Given the description of an element on the screen output the (x, y) to click on. 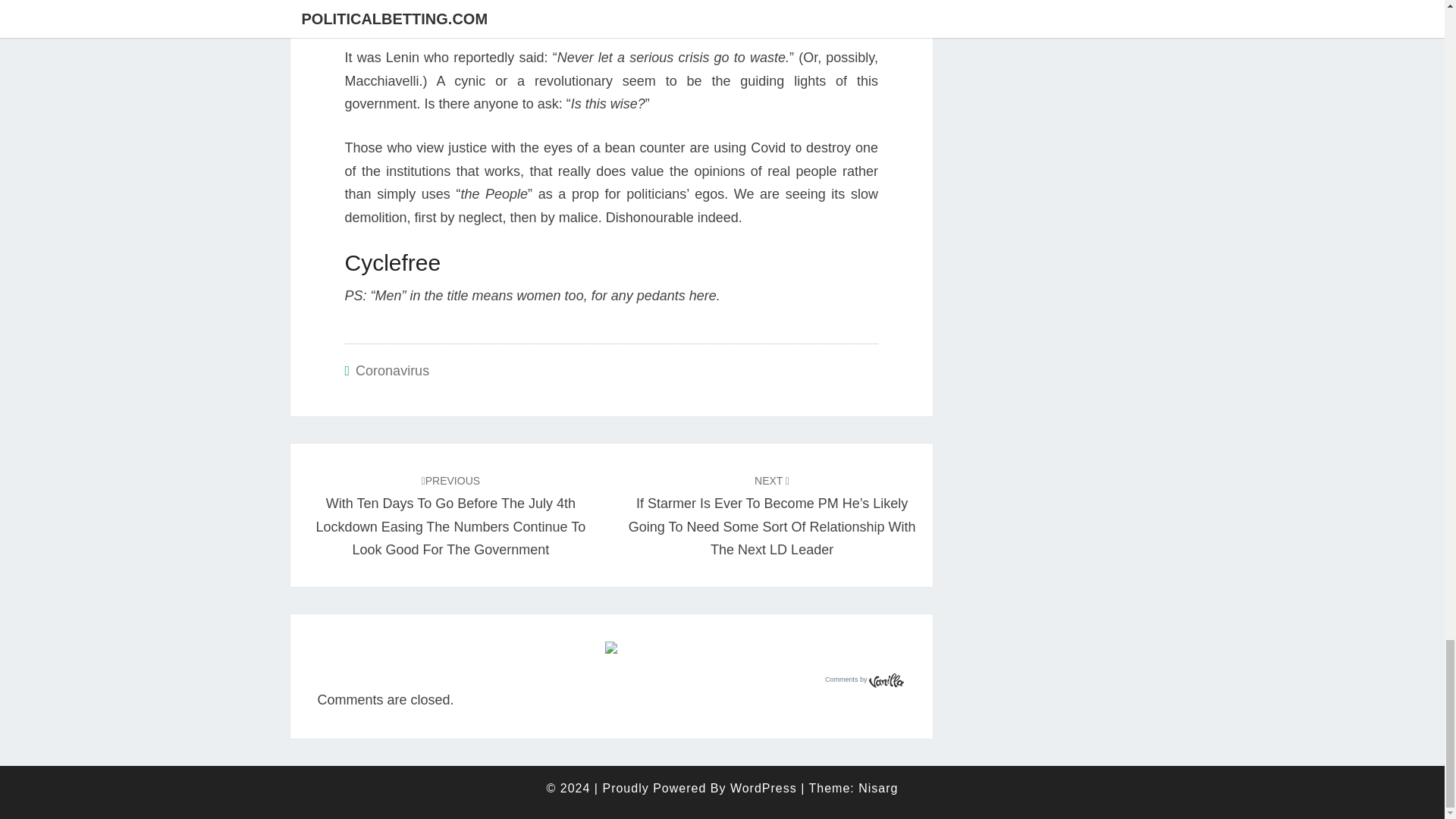
WordPress (763, 788)
Coronavirus (392, 370)
Comments by Vanilla (864, 679)
Nisarg (878, 788)
